Given the description of an element on the screen output the (x, y) to click on. 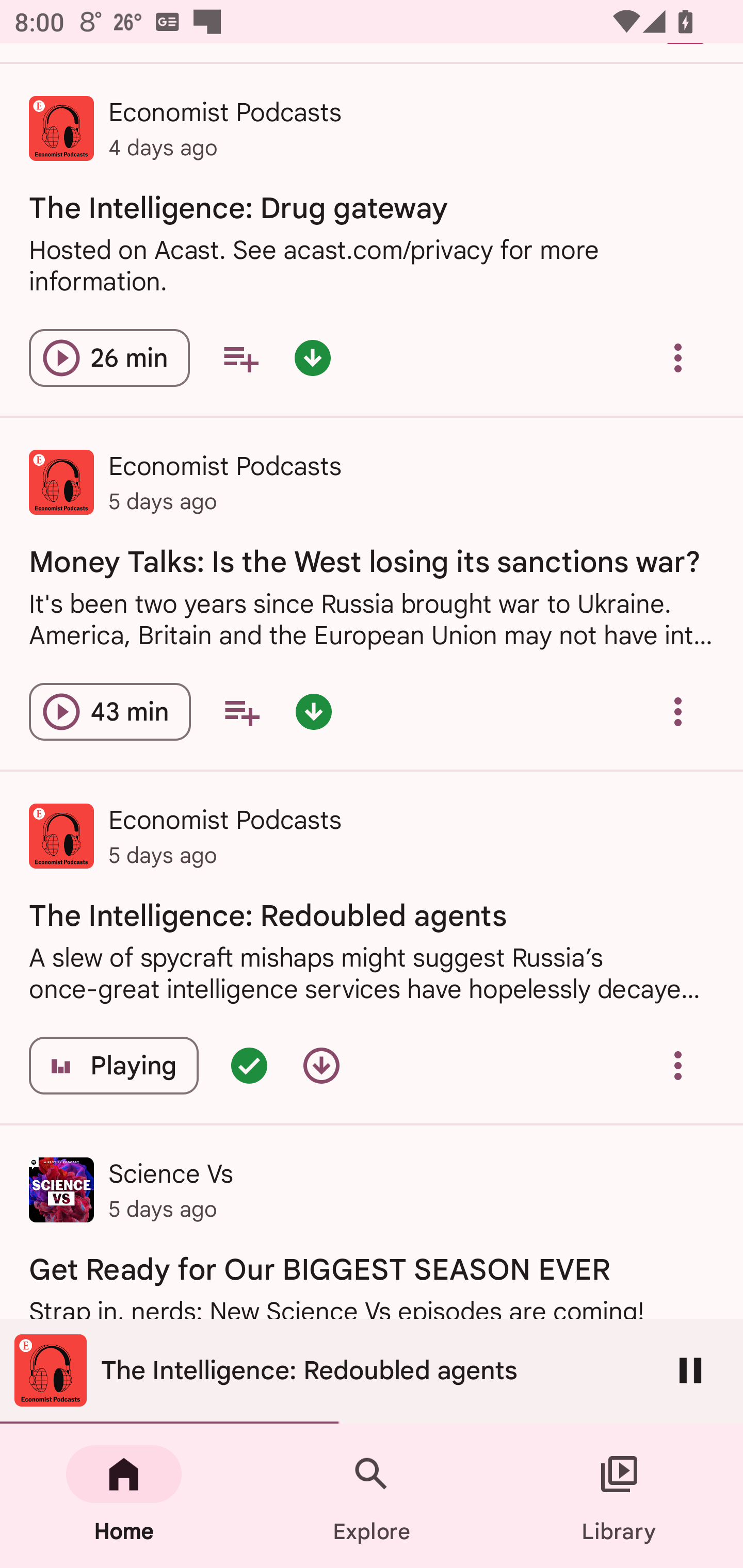
Play episode The Intelligence: Drug gateway 26 min (109, 358)
Add to your queue (240, 358)
Episode downloaded - double tap for options (312, 358)
Overflow menu (677, 358)
Add to your queue (241, 711)
Episode downloaded - double tap for options (313, 711)
Overflow menu (677, 711)
Episode queued - double tap for options (249, 1065)
Download episode (321, 1065)
Overflow menu (677, 1065)
Pause (690, 1370)
Explore (371, 1495)
Library (619, 1495)
